Given the description of an element on the screen output the (x, y) to click on. 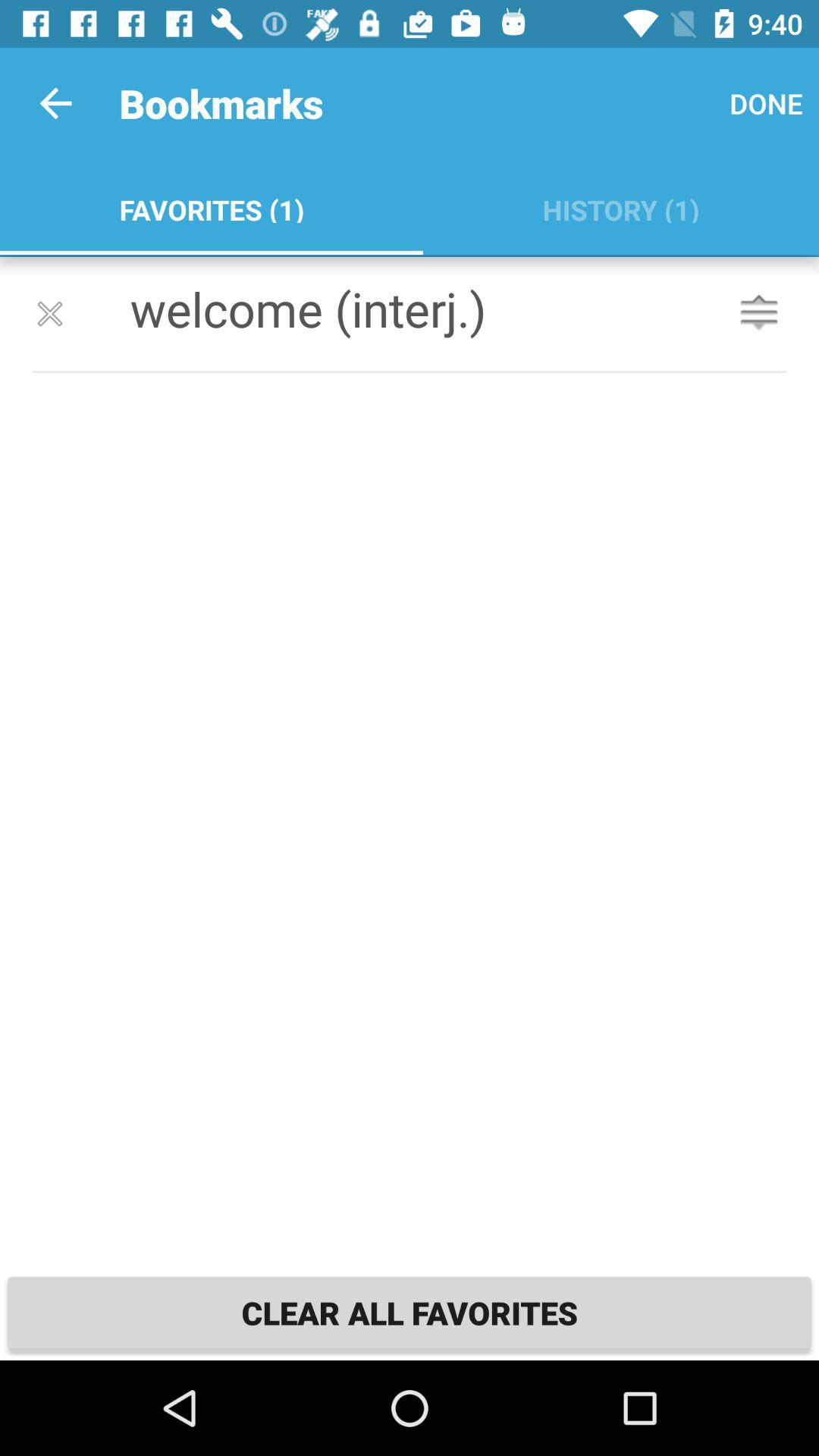
choose item above favorites (1) icon (55, 103)
